Given the description of an element on the screen output the (x, y) to click on. 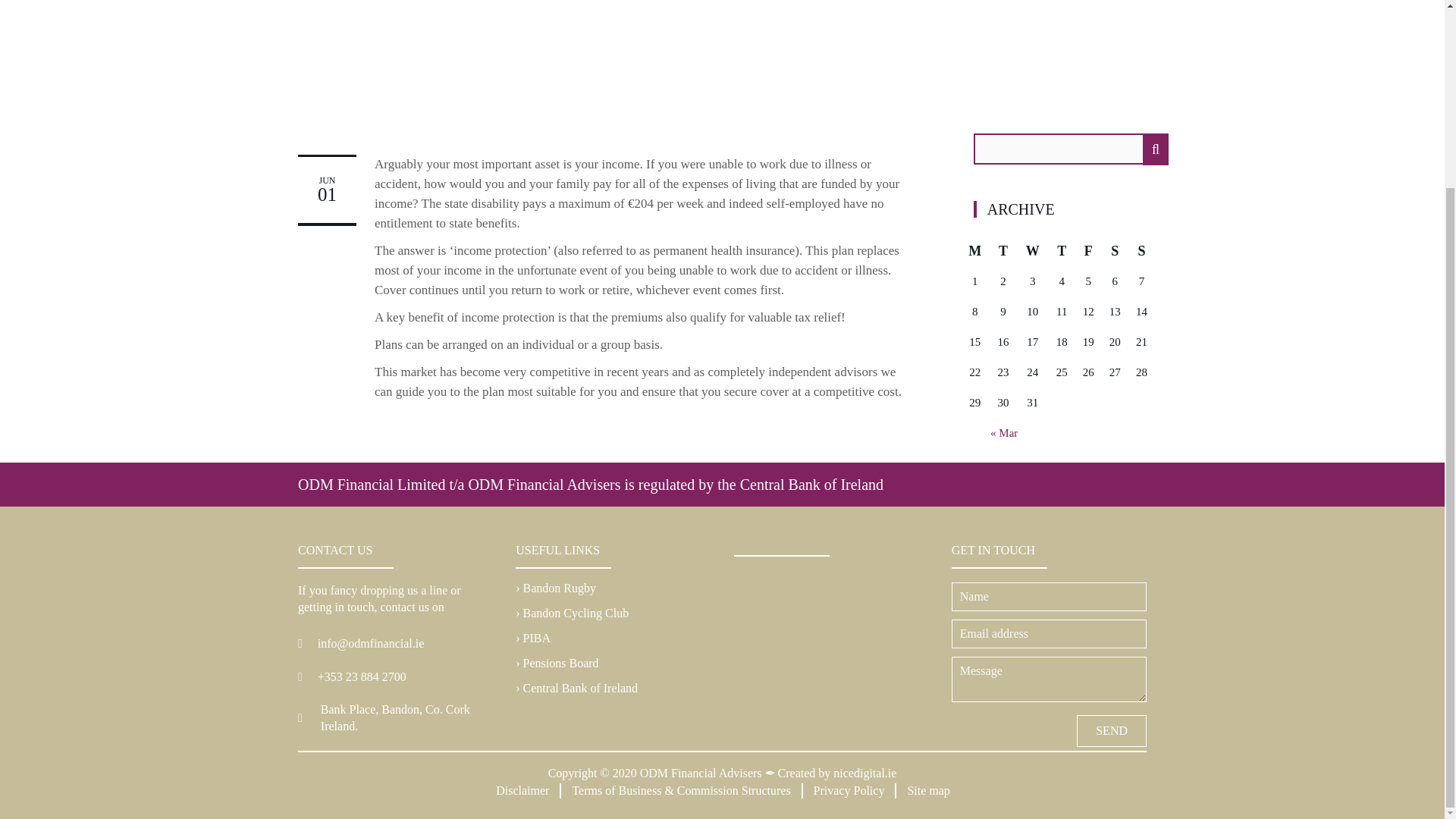
Tuesday (1003, 250)
Wednesday (1032, 250)
Site map (927, 790)
Disclaimer (521, 790)
Saturday (1115, 250)
Monday (974, 250)
Thursday (1061, 250)
SEND (1112, 730)
Sunday (1141, 250)
Friday (1088, 250)
Privacy Policy (848, 790)
